Given the description of an element on the screen output the (x, y) to click on. 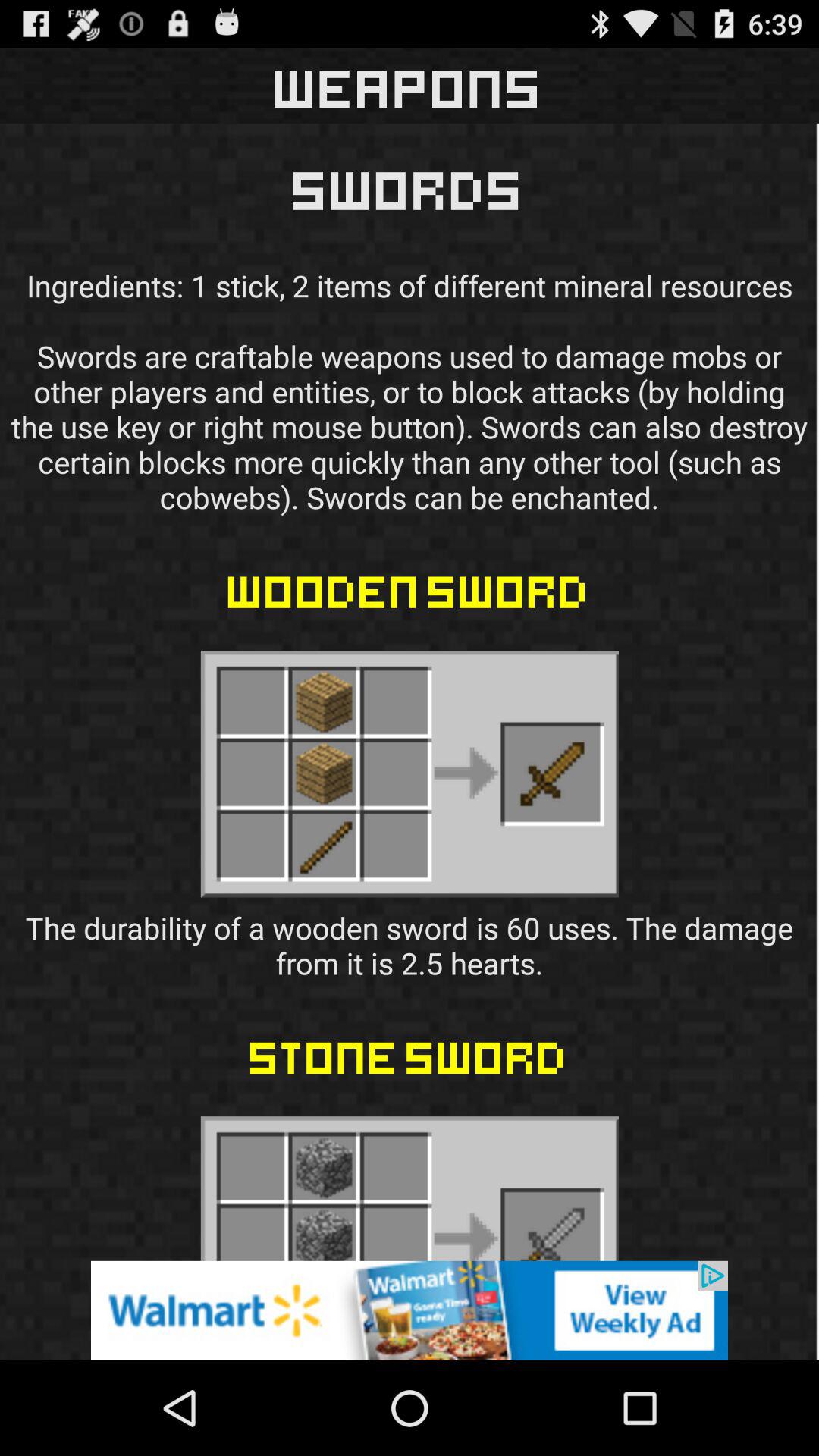
advertisement (409, 1310)
